Given the description of an element on the screen output the (x, y) to click on. 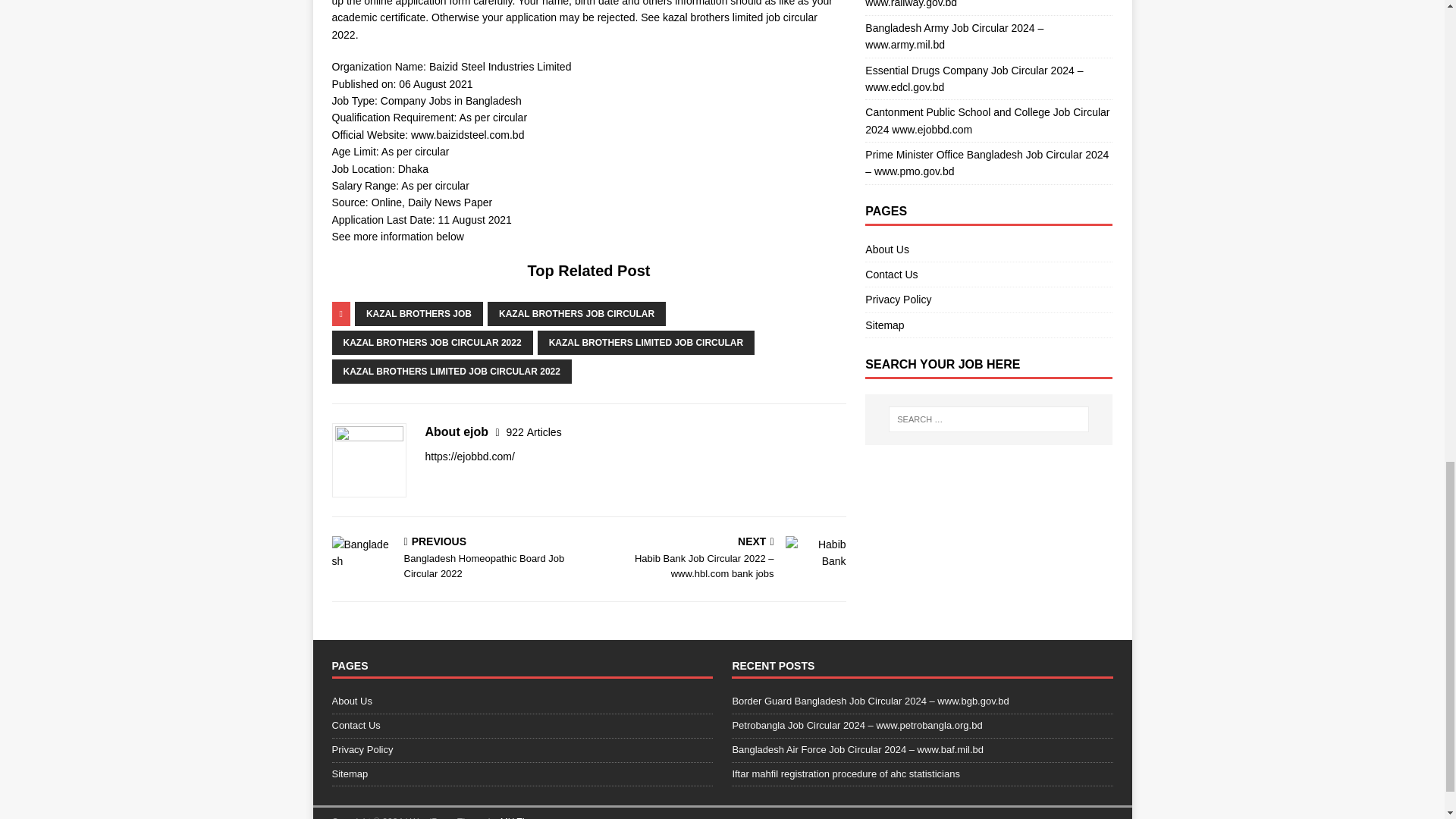
KAZAL BROTHERS LIMITED JOB CIRCULAR (457, 559)
922 Articles (645, 341)
KAZAL BROTHERS JOB CIRCULAR (534, 431)
KAZAL BROTHERS LIMITED JOB CIRCULAR 2022 (576, 313)
KAZAL BROTHERS JOB CIRCULAR 2022 (451, 370)
More articles written by ejob' (431, 341)
KAZAL BROTHERS JOB (534, 431)
